Given the description of an element on the screen output the (x, y) to click on. 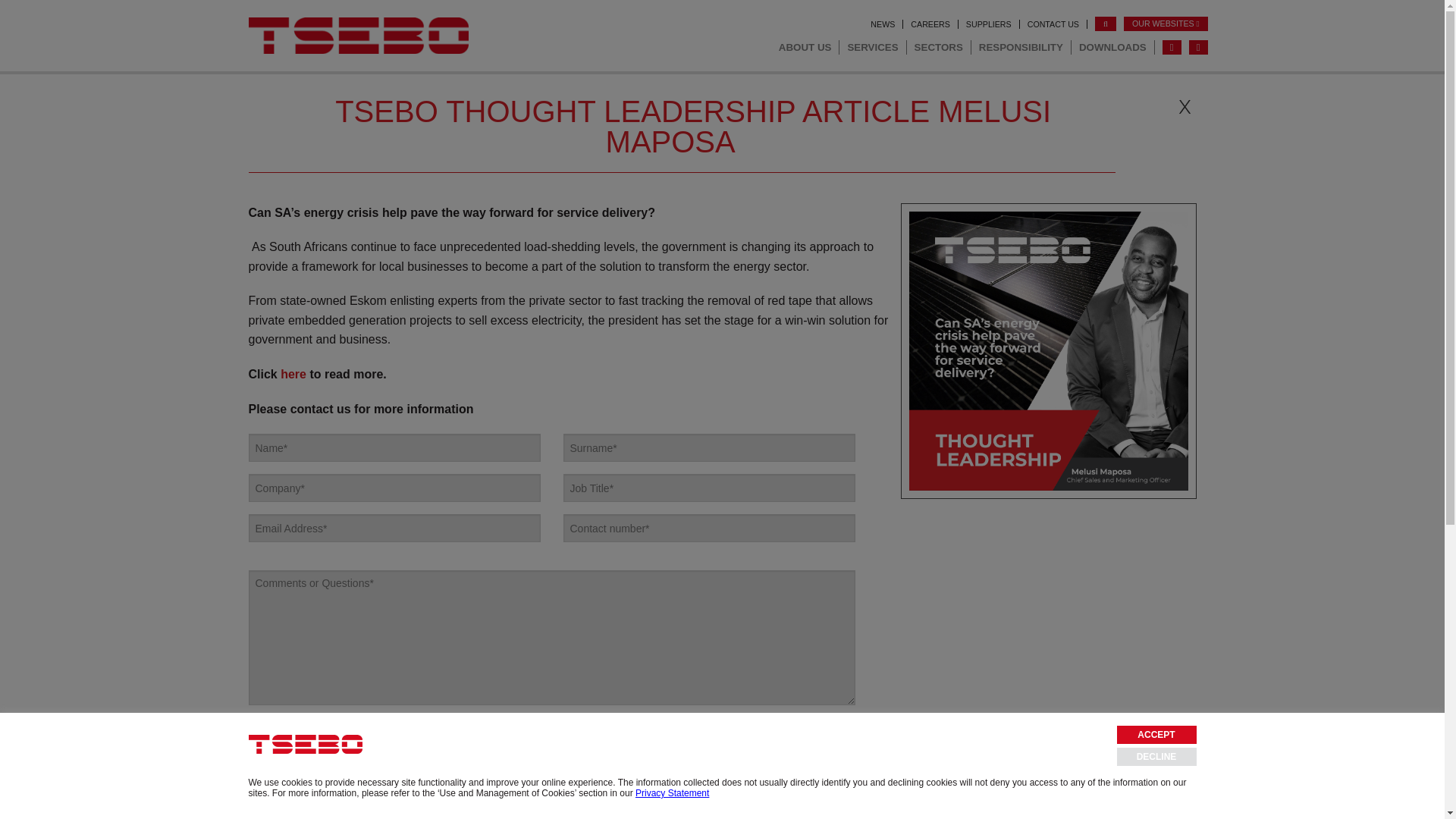
false (253, 722)
CONTACT US (1053, 23)
SECTORS (939, 47)
NEWS (882, 23)
SERVICES (872, 47)
ABOUT US (805, 47)
DOWNLOADS (1112, 47)
RESPONSIBILITY (1020, 47)
SUPPLIERS (988, 23)
CONTACT US (292, 764)
CAREERS (930, 23)
OUR WEBSITES (1166, 23)
